Given the description of an element on the screen output the (x, y) to click on. 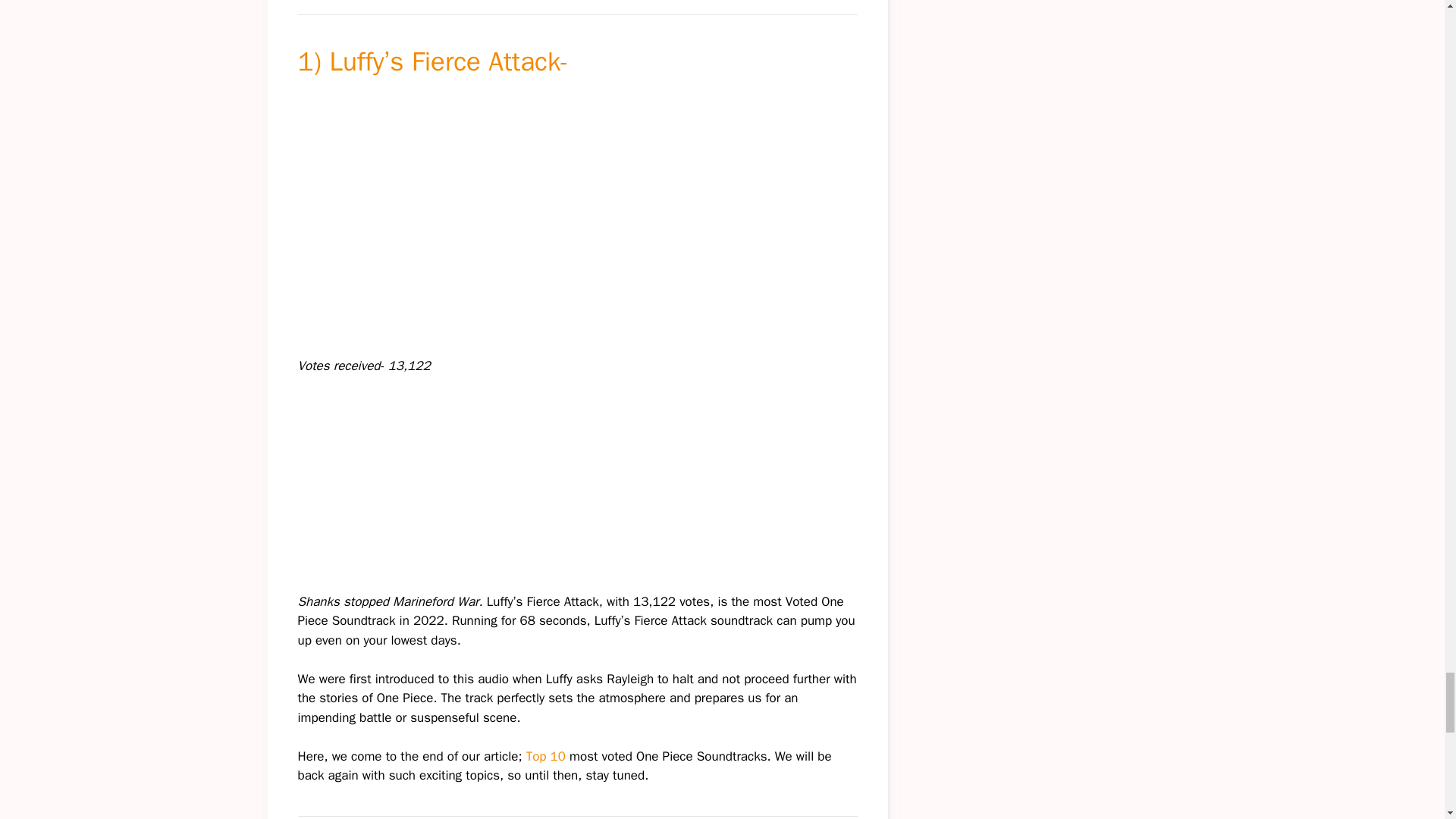
Top 10 (545, 756)
